Given the description of an element on the screen output the (x, y) to click on. 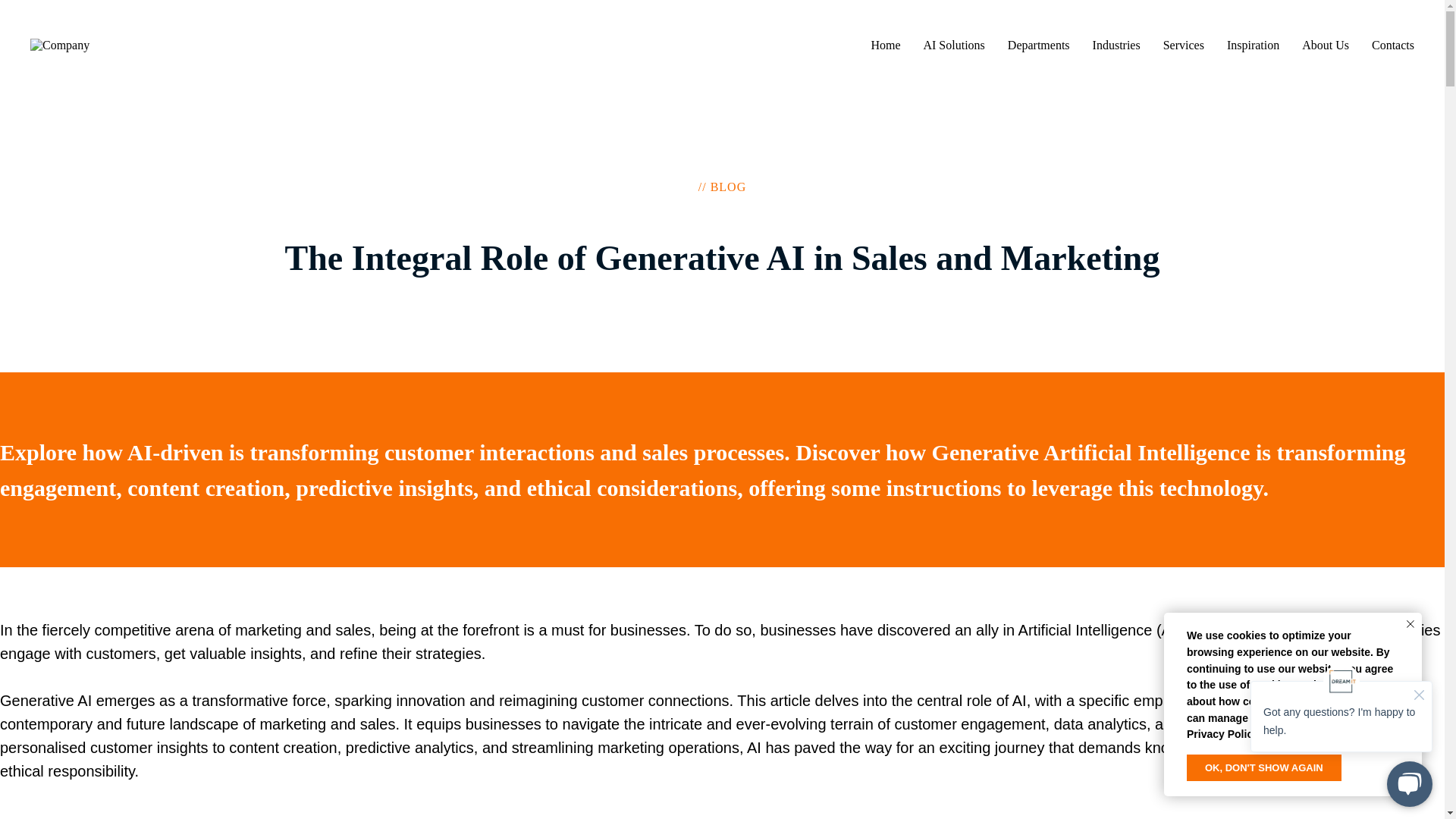
Industries (1116, 44)
Home (884, 44)
AI Solutions (953, 44)
Departments (1038, 44)
